Given the description of an element on the screen output the (x, y) to click on. 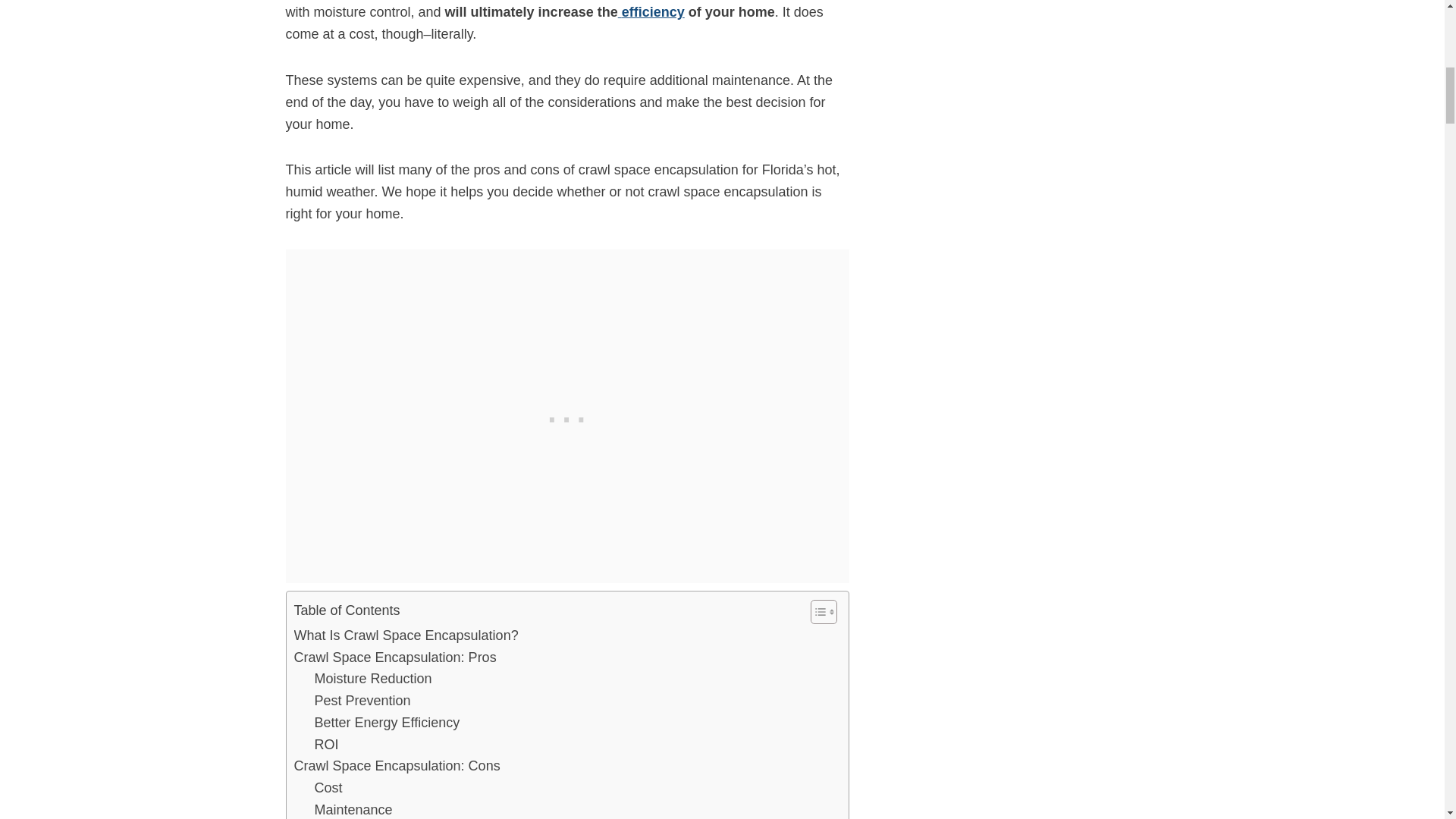
Maintenance (352, 809)
Moisture Reduction (372, 679)
Better Energy Efficiency (387, 722)
Pest Prevention (362, 700)
What Is Crawl Space Encapsulation? (406, 635)
Crawl Space Encapsulation: Pros (395, 657)
Crawl Space Encapsulation: Cons (397, 766)
ROI (325, 744)
Cost (328, 788)
